Given the description of an element on the screen output the (x, y) to click on. 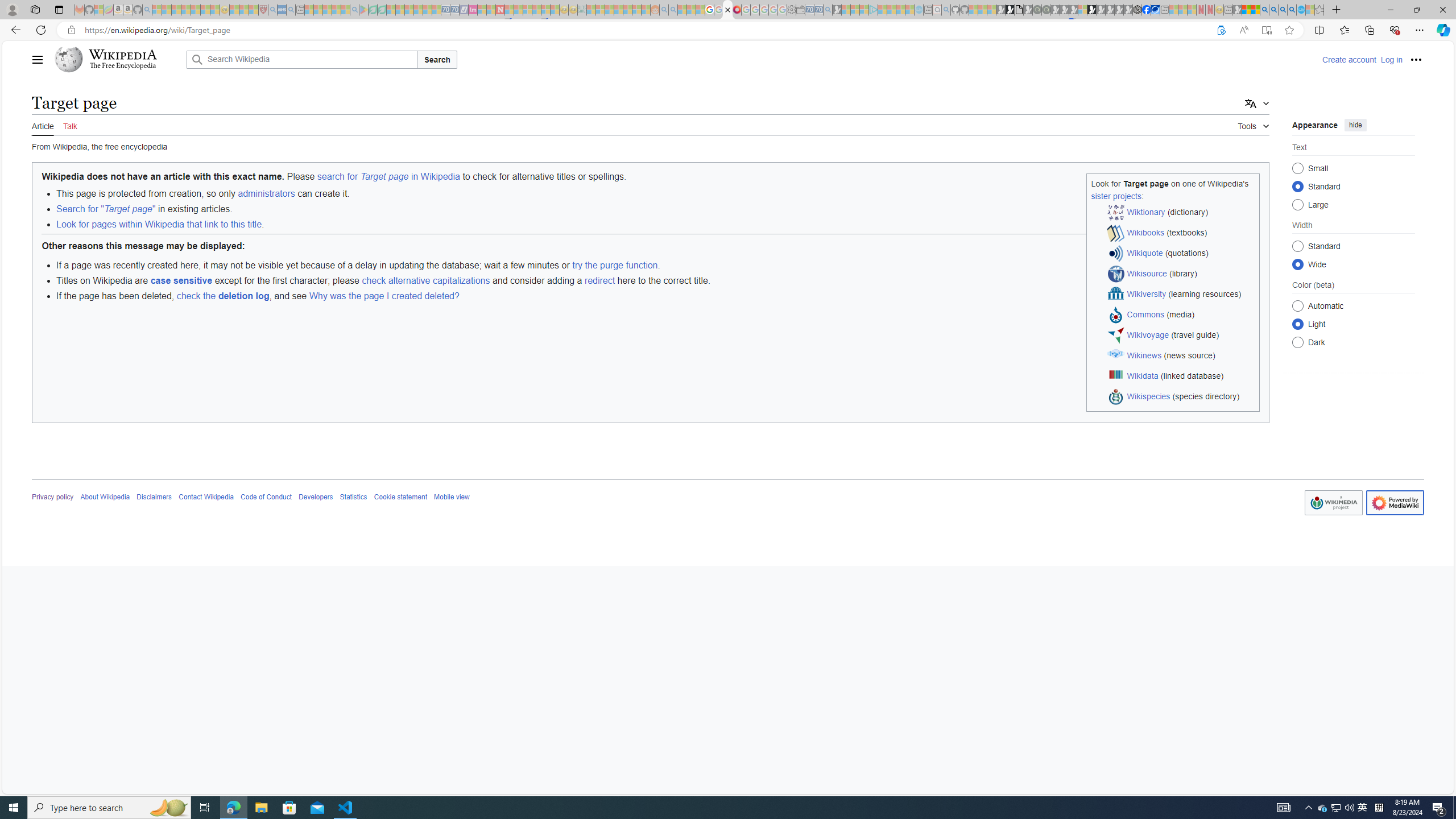
Powered by MediaWiki (1395, 502)
Commons (1145, 314)
Talk (69, 124)
Wikivoyage (1147, 334)
Search for "Target page" in existing articles. (657, 209)
Contact Wikipedia (206, 496)
Wikivoyage (travel guide) (1181, 335)
Wikisource (1146, 273)
MediaWiki (736, 9)
Main menu (37, 59)
utah sues federal government - Search - Sleeping (290, 9)
Wikibooks (textbooks) (1181, 233)
